Given the description of an element on the screen output the (x, y) to click on. 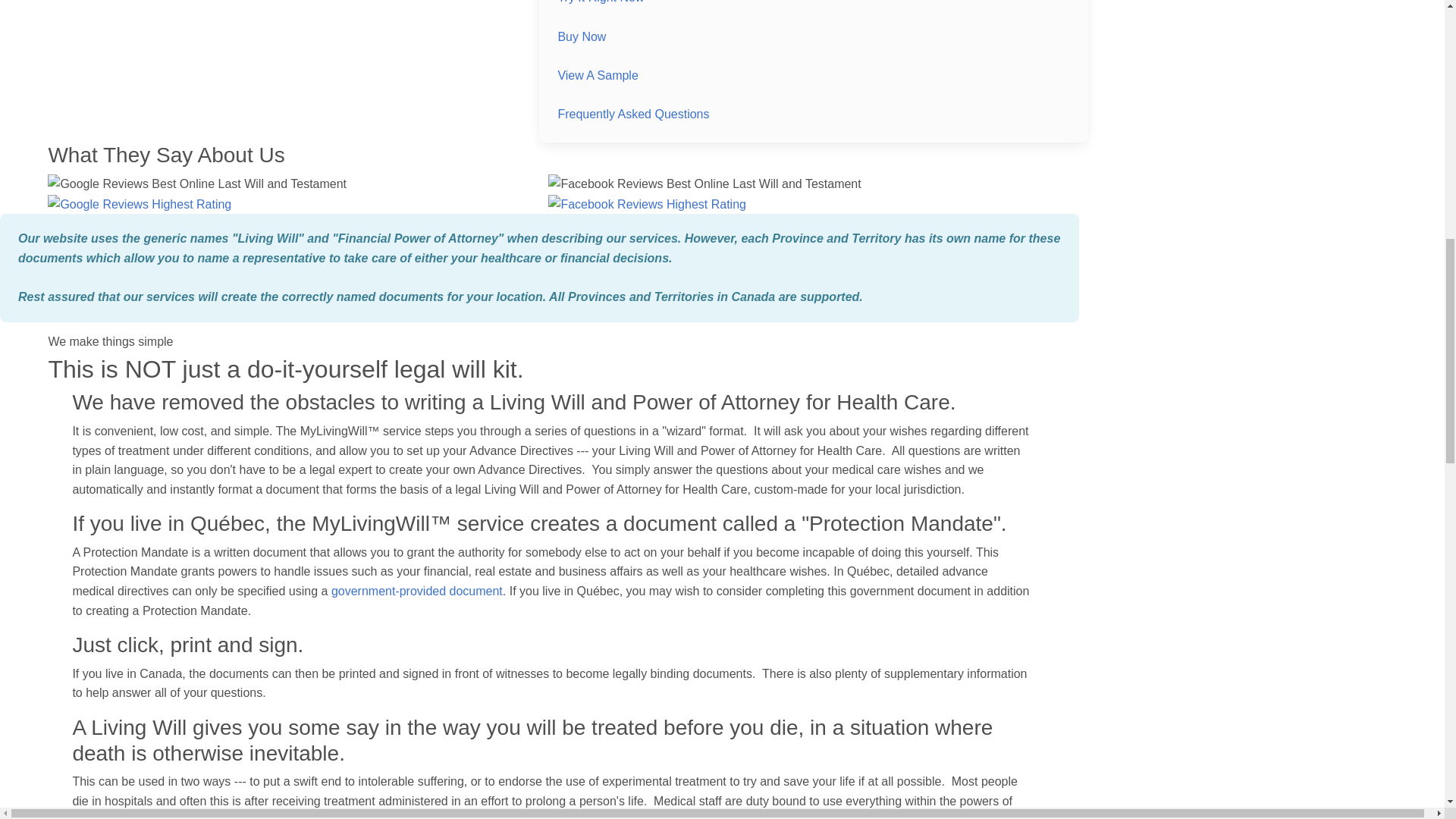
Click to see Facebook Reviews for LegalWills.ca (646, 203)
Frequently Asked Questions (633, 113)
Try It Right Now (600, 2)
Buy Now (581, 36)
View A Sample (597, 74)
government-provided document (416, 590)
Click to see Google Reviews for LegalWills.ca (139, 203)
